Given the description of an element on the screen output the (x, y) to click on. 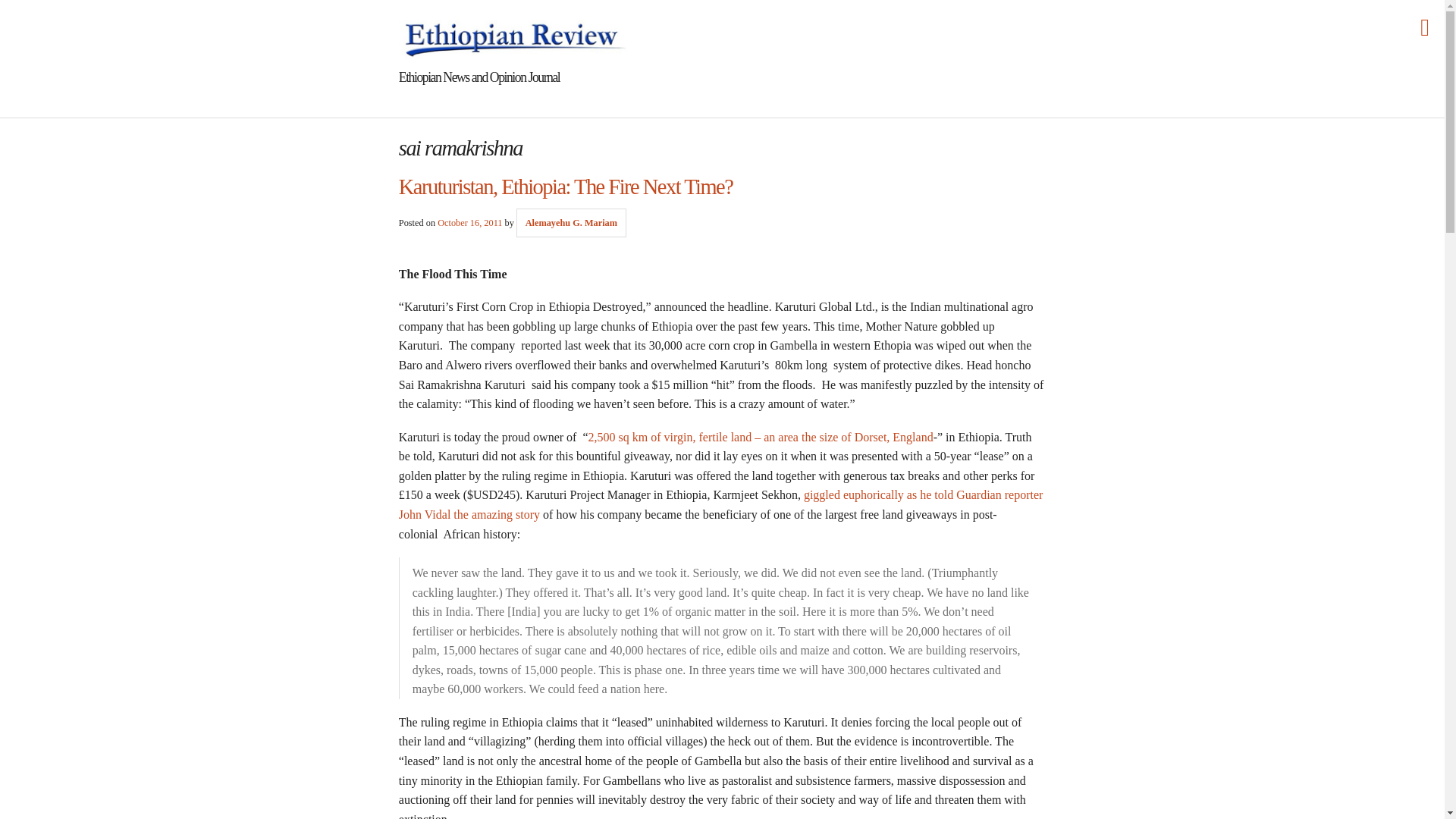
Ethiopia (512, 36)
October 16, 2011 (470, 222)
Alemayehu G. Mariam (571, 222)
Karuturistan, Ethiopia: The Fire Next Time? (565, 187)
Search (21, 7)
